Given the description of an element on the screen output the (x, y) to click on. 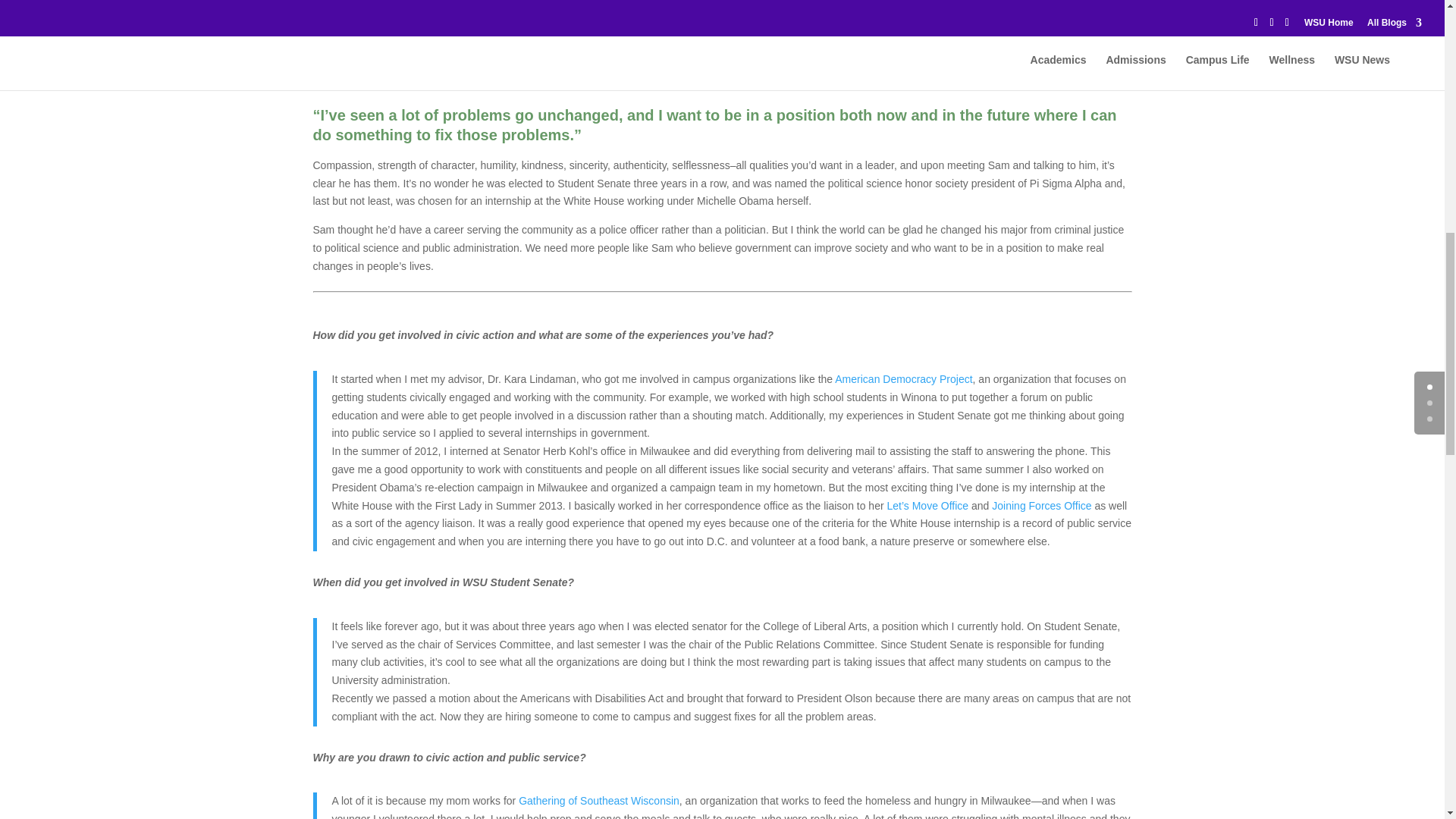
Gathering of Southeast Wisconsin (598, 800)
Joining Forces Office (1040, 505)
American Democracy Project (903, 378)
